Given the description of an element on the screen output the (x, y) to click on. 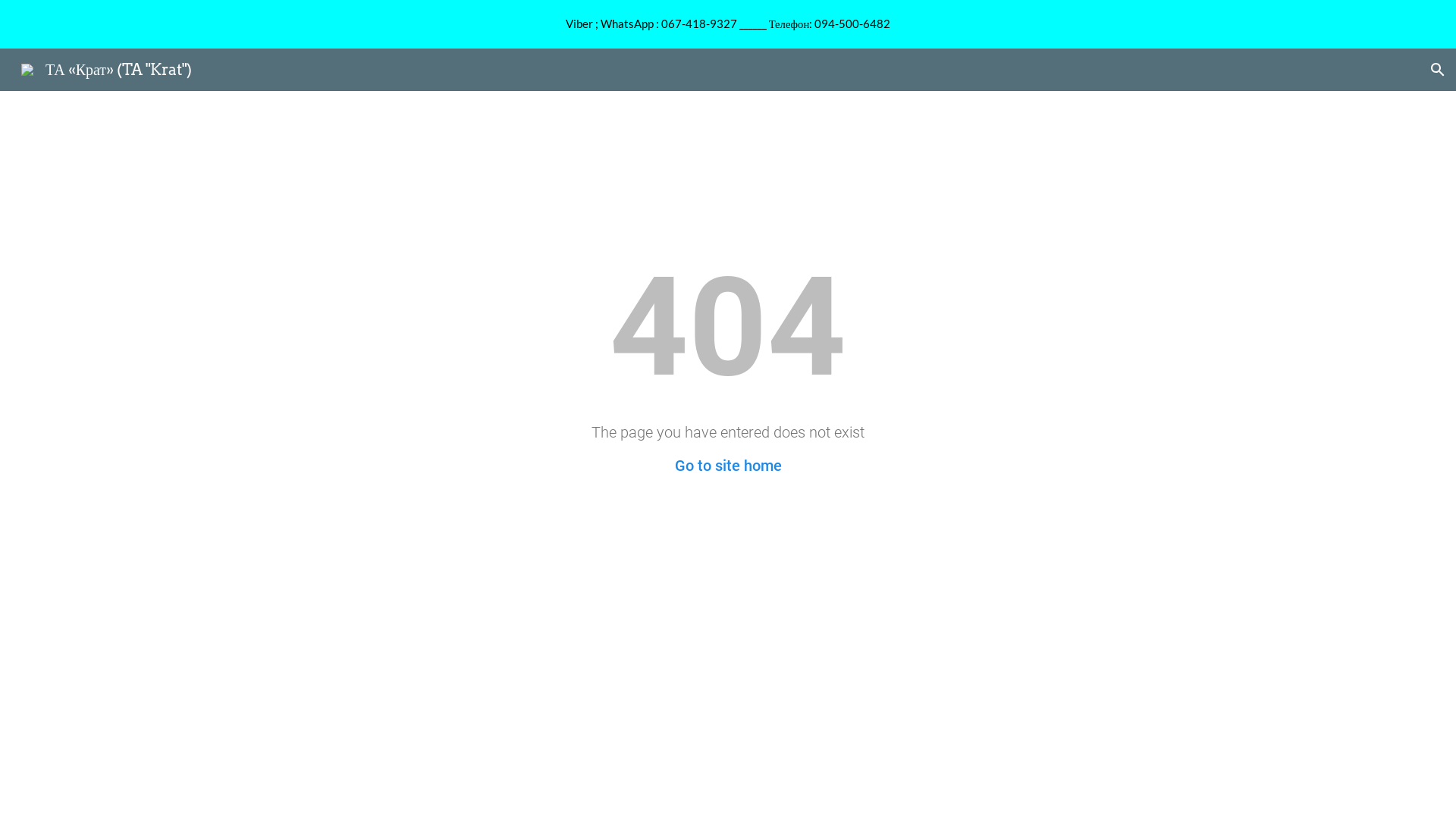
Go to site home Element type: text (727, 465)
